Given the description of an element on the screen output the (x, y) to click on. 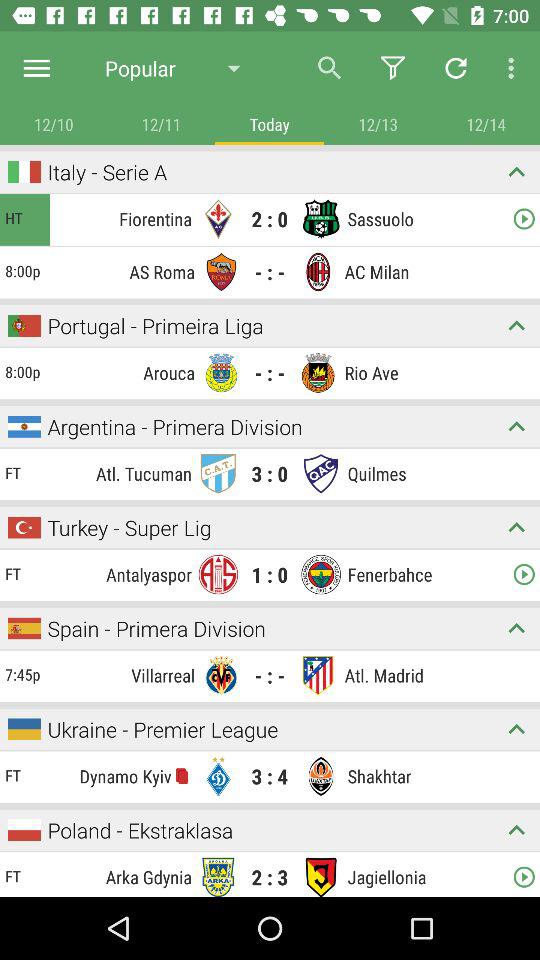
expand on topic (516, 325)
